Given the description of an element on the screen output the (x, y) to click on. 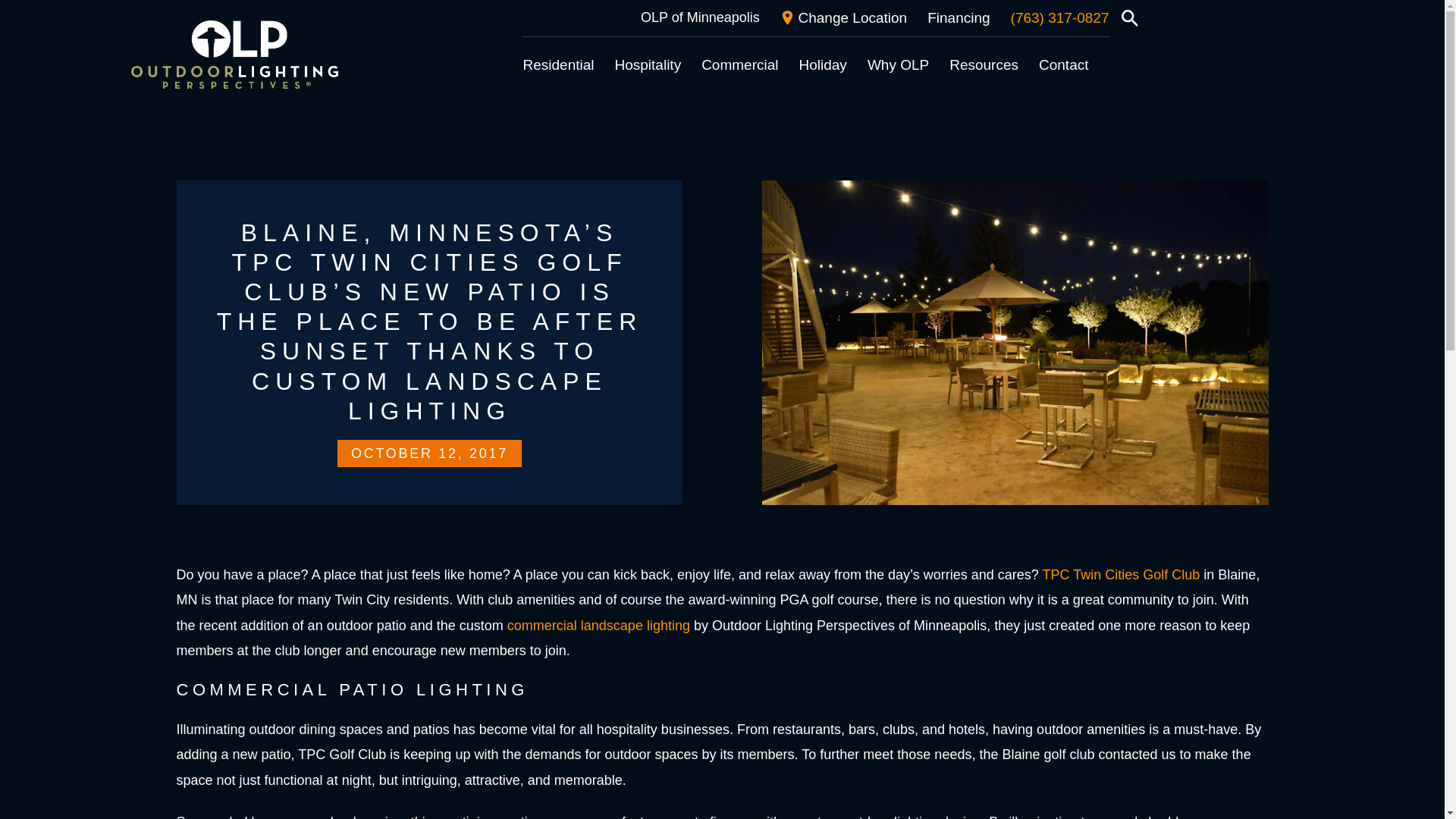
Outdoor Lighting Perspectives (234, 54)
Financing (958, 18)
Change Location (843, 18)
Hospitality (647, 65)
Residential (558, 65)
